Given the description of an element on the screen output the (x, y) to click on. 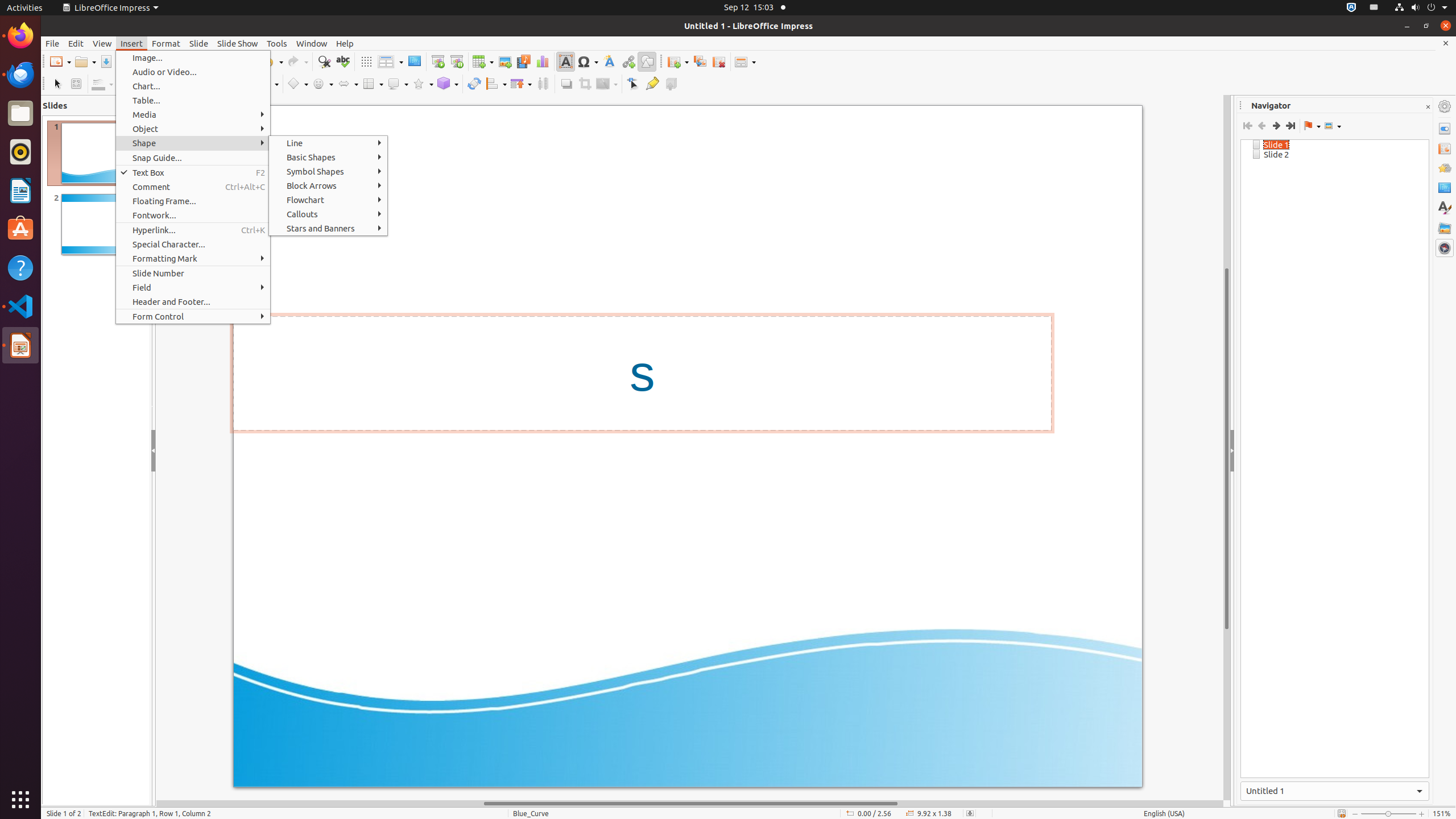
Form Control Element type: menu (193, 316)
Floating Frame... Element type: menu-item (193, 200)
Insert Element type: menu (131, 43)
Properties Element type: radio-button (1444, 128)
Formatting Mark Element type: menu (193, 258)
